Given the description of an element on the screen output the (x, y) to click on. 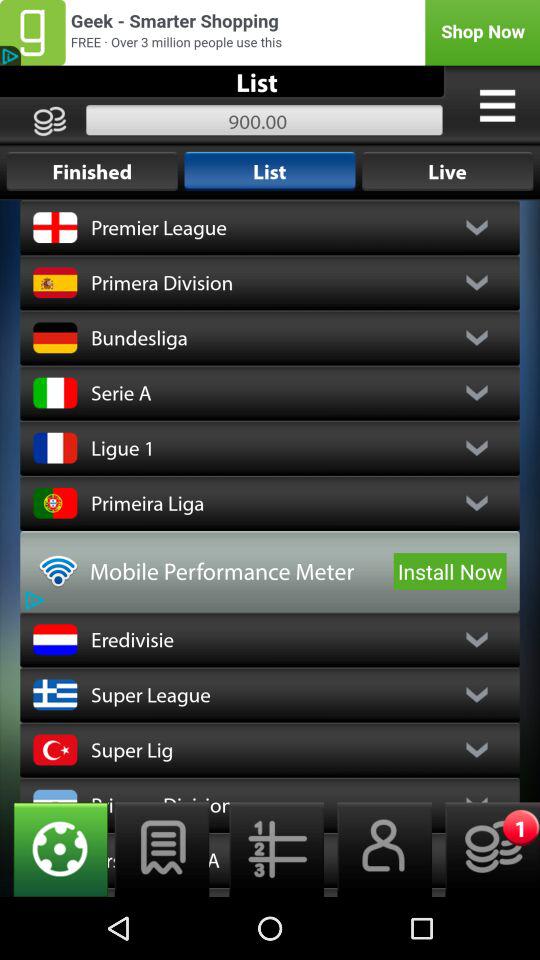
tap item above the  fa cup (54, 849)
